Given the description of an element on the screen output the (x, y) to click on. 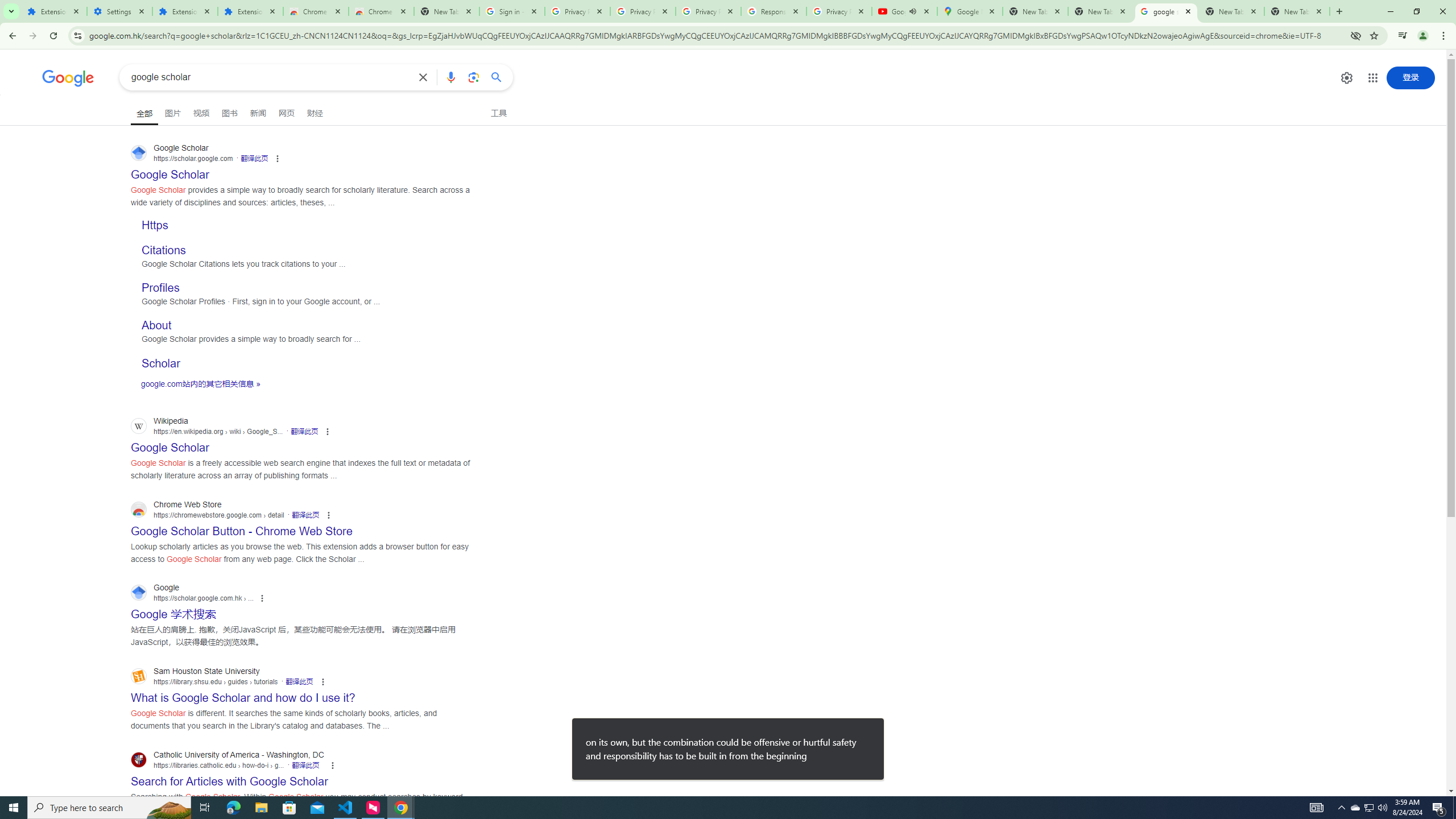
Profiles (160, 287)
Settings (119, 11)
